Given the description of an element on the screen output the (x, y) to click on. 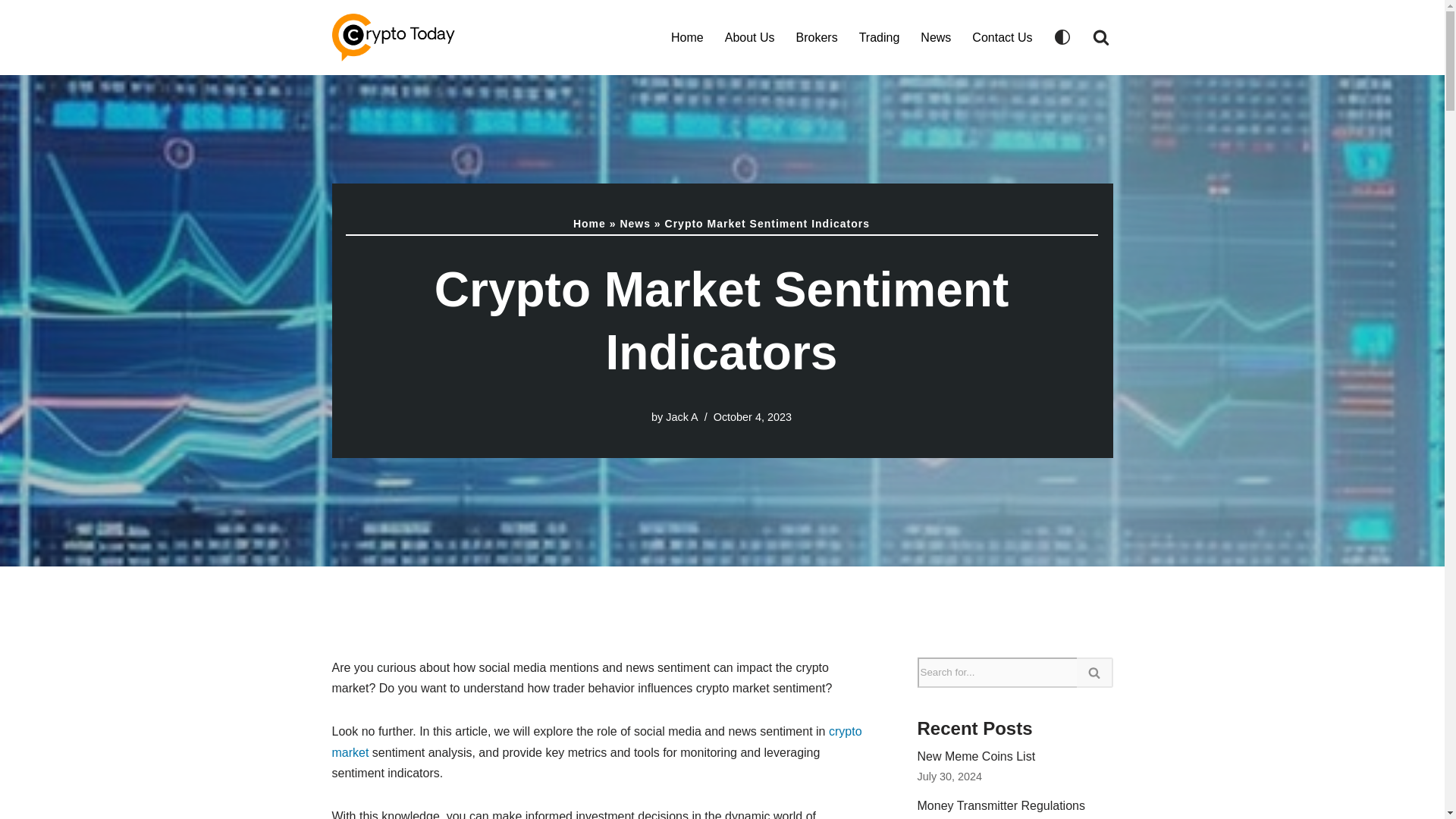
Jack A (681, 417)
Money Transmitter Regulations 2024 (1000, 809)
Home (589, 223)
Posts by Jack A (681, 417)
Home (687, 37)
Skip to content (11, 31)
Contact Us (1002, 37)
Brokers (817, 37)
Trading (879, 37)
crypto market (596, 741)
New Meme Coins List (976, 756)
News (635, 223)
About Us (749, 37)
News (935, 37)
